Given the description of an element on the screen output the (x, y) to click on. 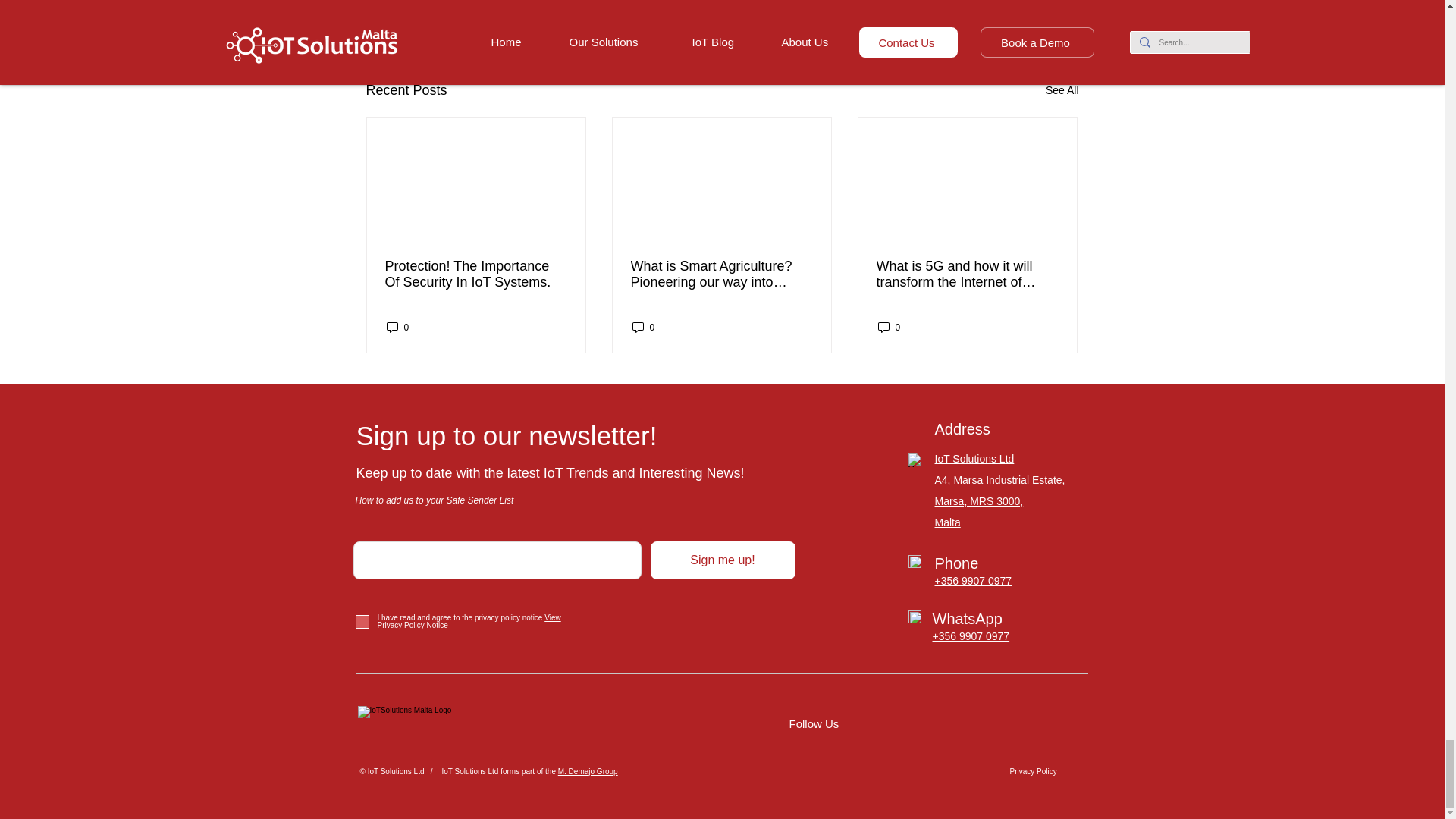
General Inquiries (914, 561)
Addrss (915, 459)
WhatsApp (914, 616)
